Given the description of an element on the screen output the (x, y) to click on. 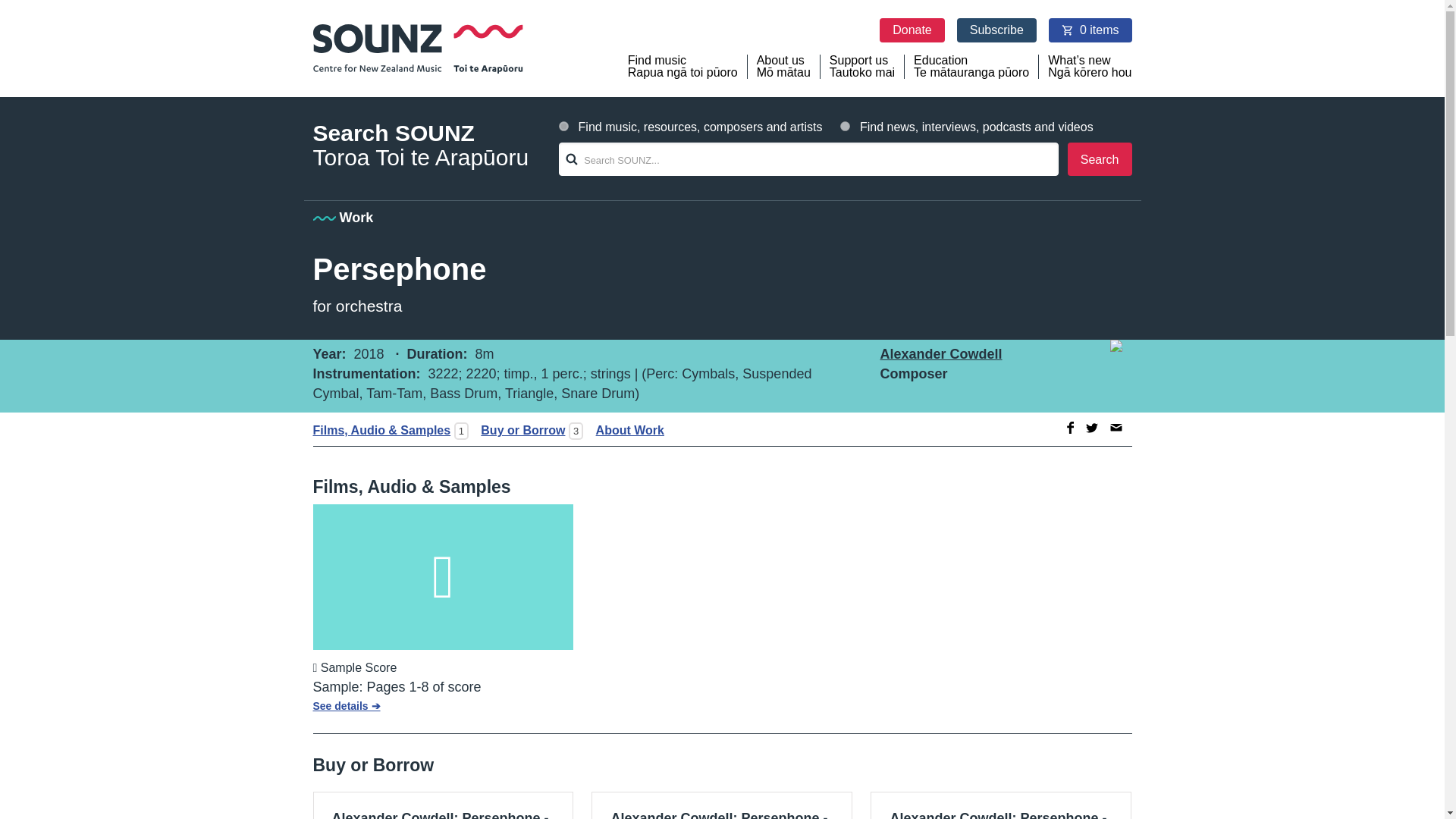
Buy or Borrow (517, 430)
Share to Email (1115, 427)
Donate (911, 30)
content (845, 126)
0 items (1090, 30)
Subscribe (996, 30)
Search (1099, 159)
Share to Facebook (1000, 805)
Alexander Cowdell (1067, 427)
